Given the description of an element on the screen output the (x, y) to click on. 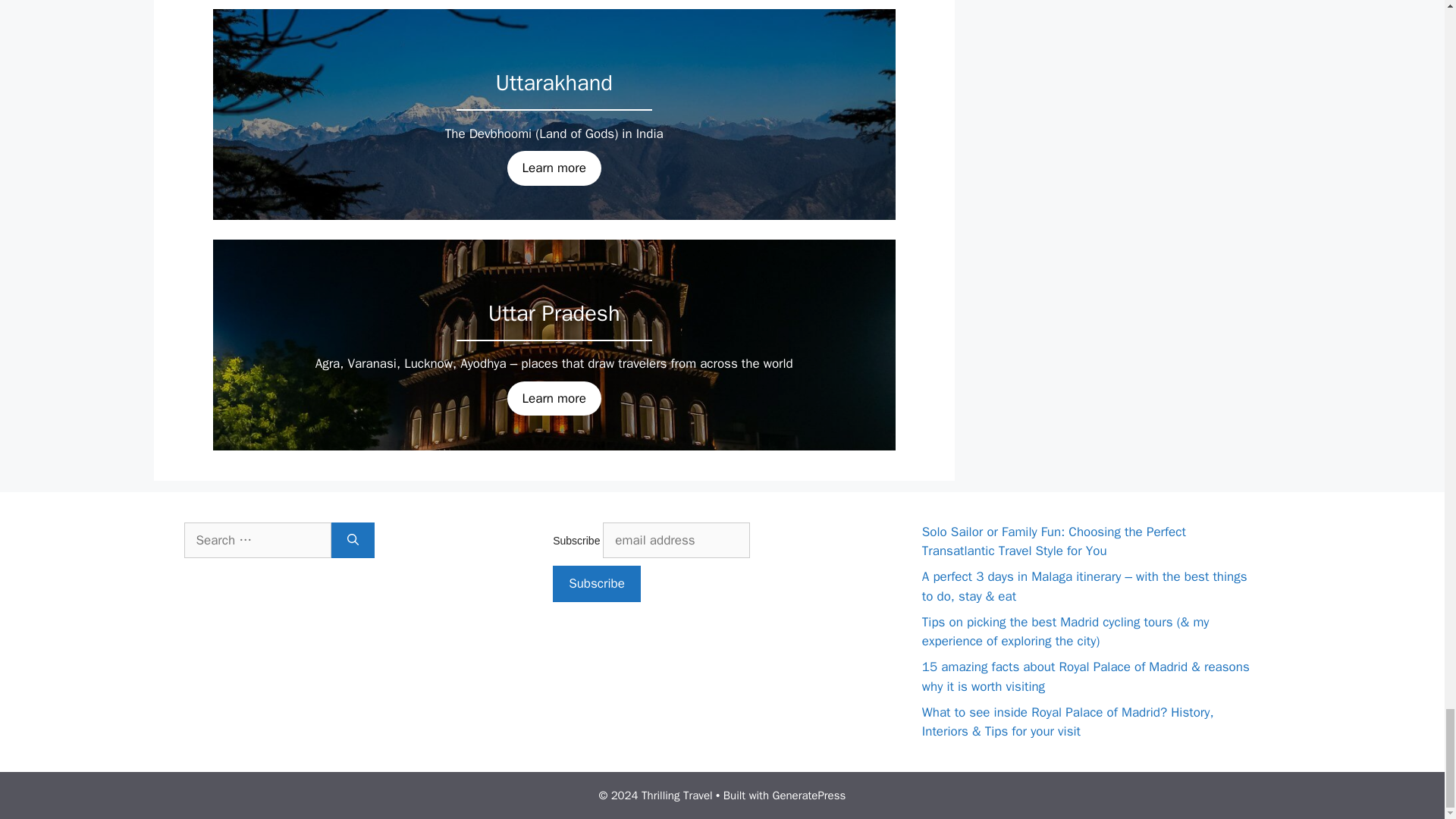
Subscribe (596, 583)
Search for: (256, 540)
